Given the description of an element on the screen output the (x, y) to click on. 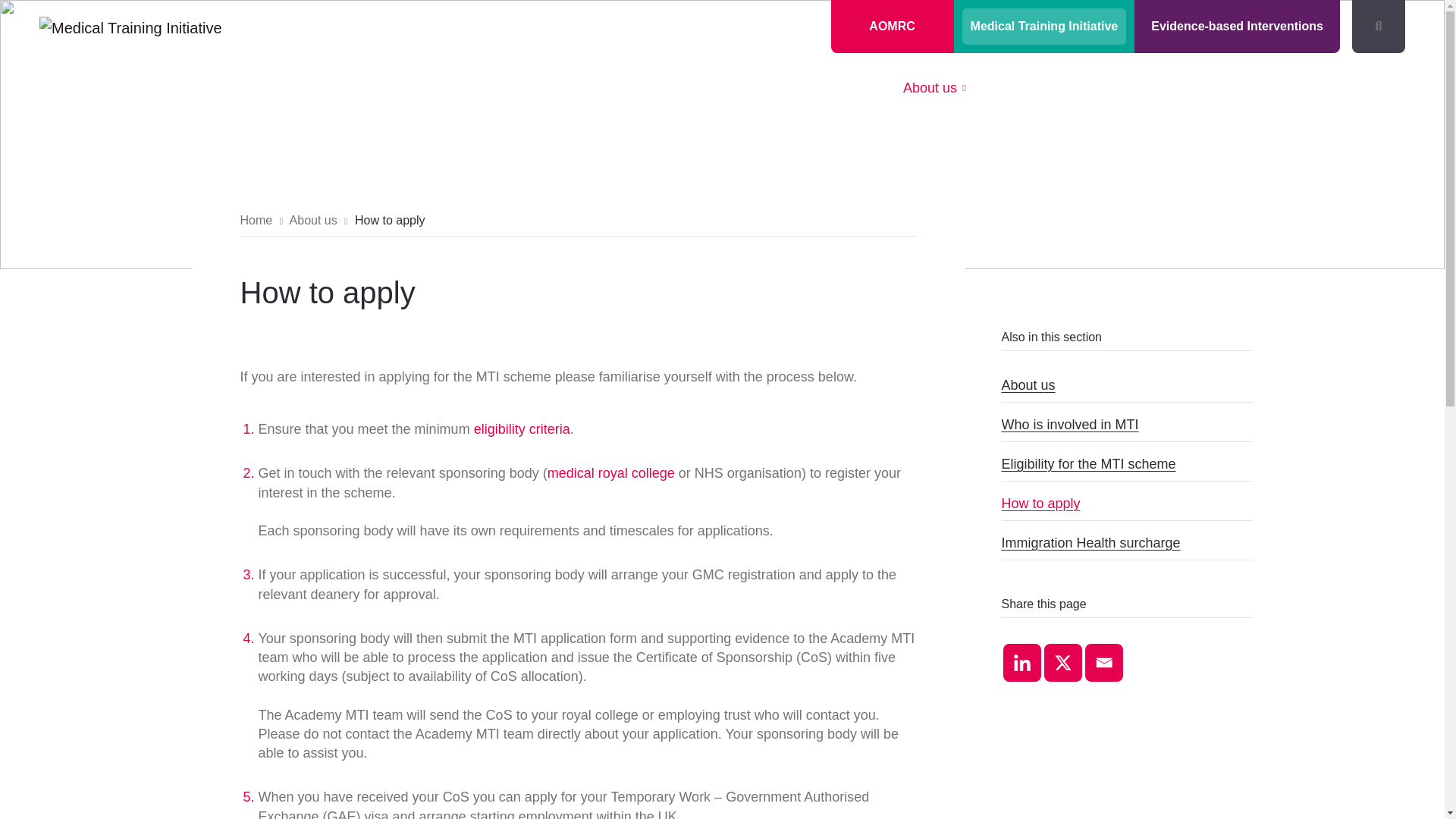
X (1062, 662)
AOMRC (892, 26)
FAQs (1292, 87)
Evidence-based Interventions (1237, 26)
About us (933, 87)
Contact us (1369, 87)
Email (1103, 662)
Home (854, 87)
Medical Training Initiative (1044, 26)
Linkedin (1022, 662)
